Given the description of an element on the screen output the (x, y) to click on. 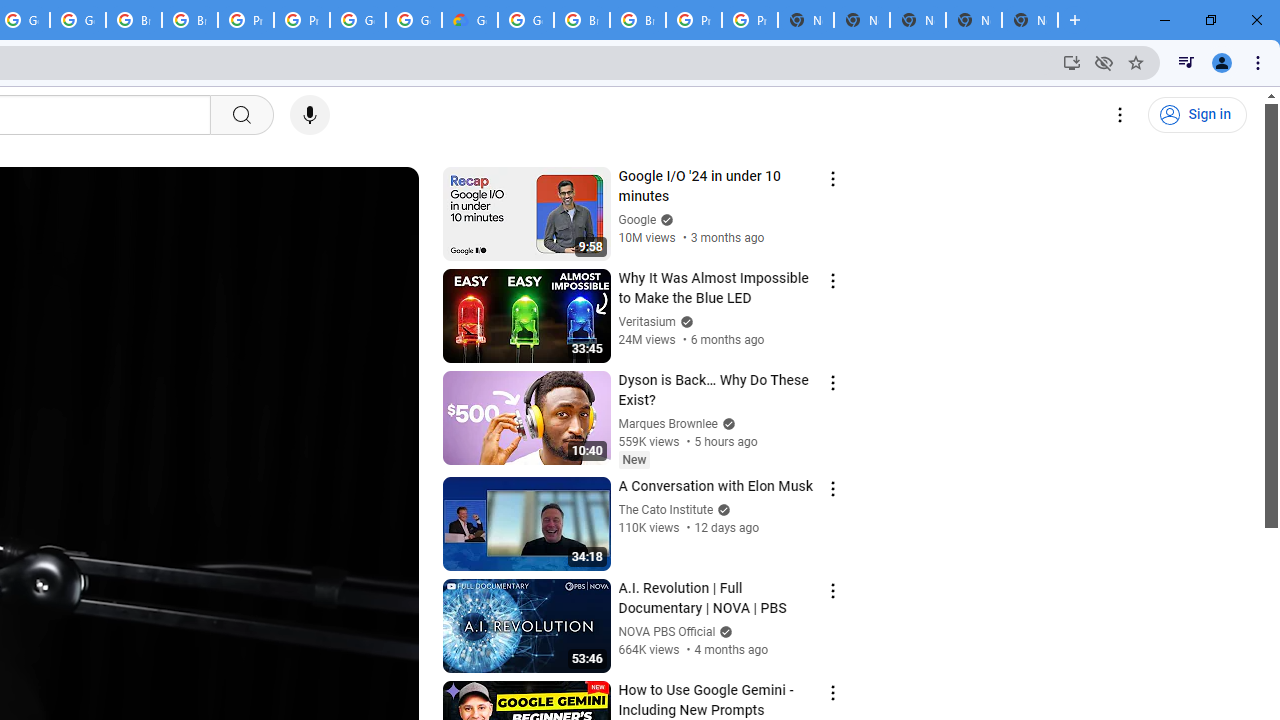
Google Cloud Platform (358, 20)
Google Cloud Estimate Summary (469, 20)
